Given the description of an element on the screen output the (x, y) to click on. 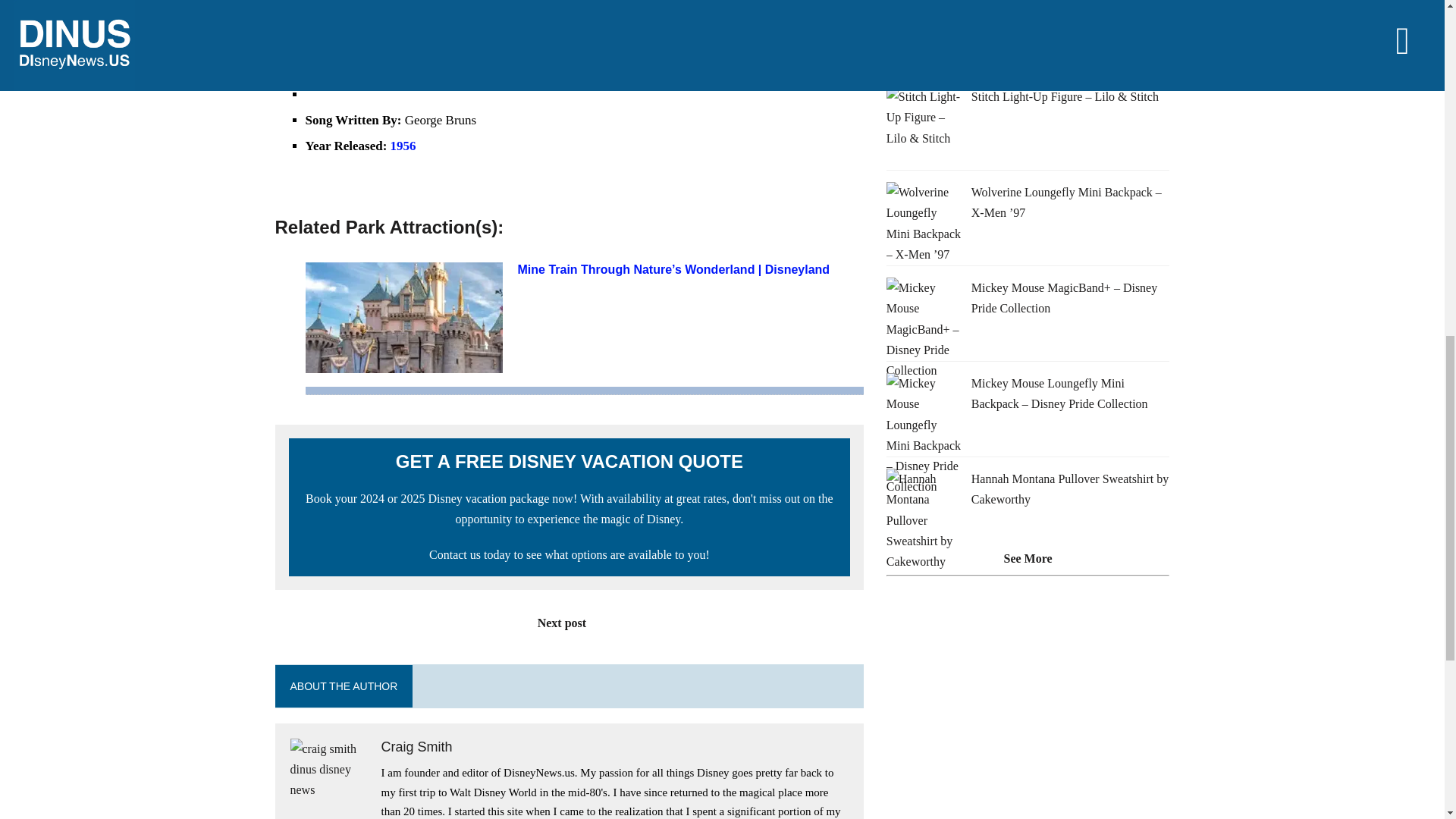
1956 (403, 145)
NEW IN THE MALL (947, 49)
Craig Smith (415, 746)
See More (1028, 558)
Hannah Montana Pullover Sweatshirt by Cakeworthy (1070, 489)
Next post (569, 622)
Contact us today to see what options are available to you! (569, 554)
GET A FREE DISNEY VACATION QUOTE (569, 461)
New in the Mall (947, 49)
